Given the description of an element on the screen output the (x, y) to click on. 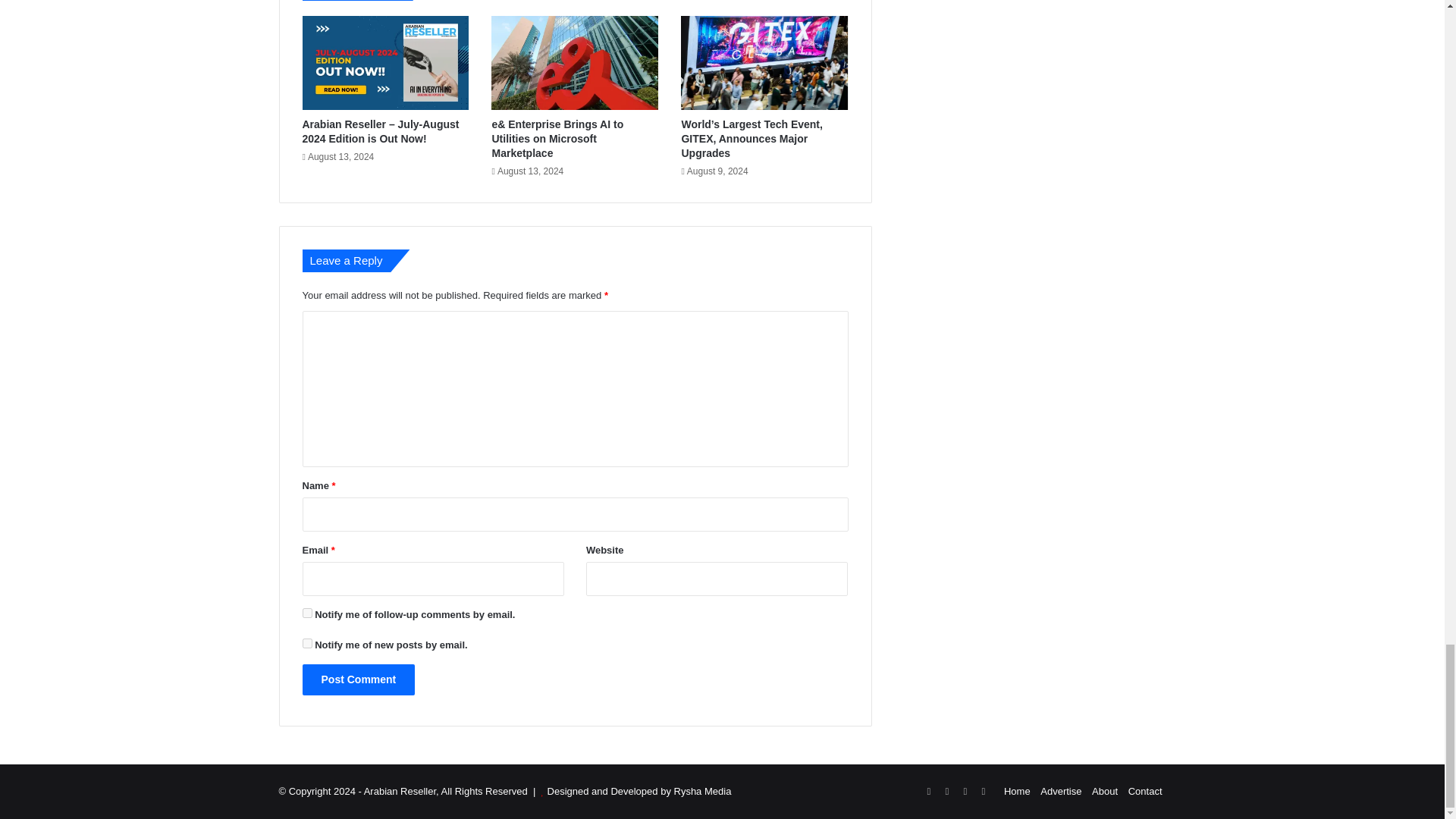
Post Comment (357, 679)
subscribe (306, 643)
subscribe (306, 613)
